Given the description of an element on the screen output the (x, y) to click on. 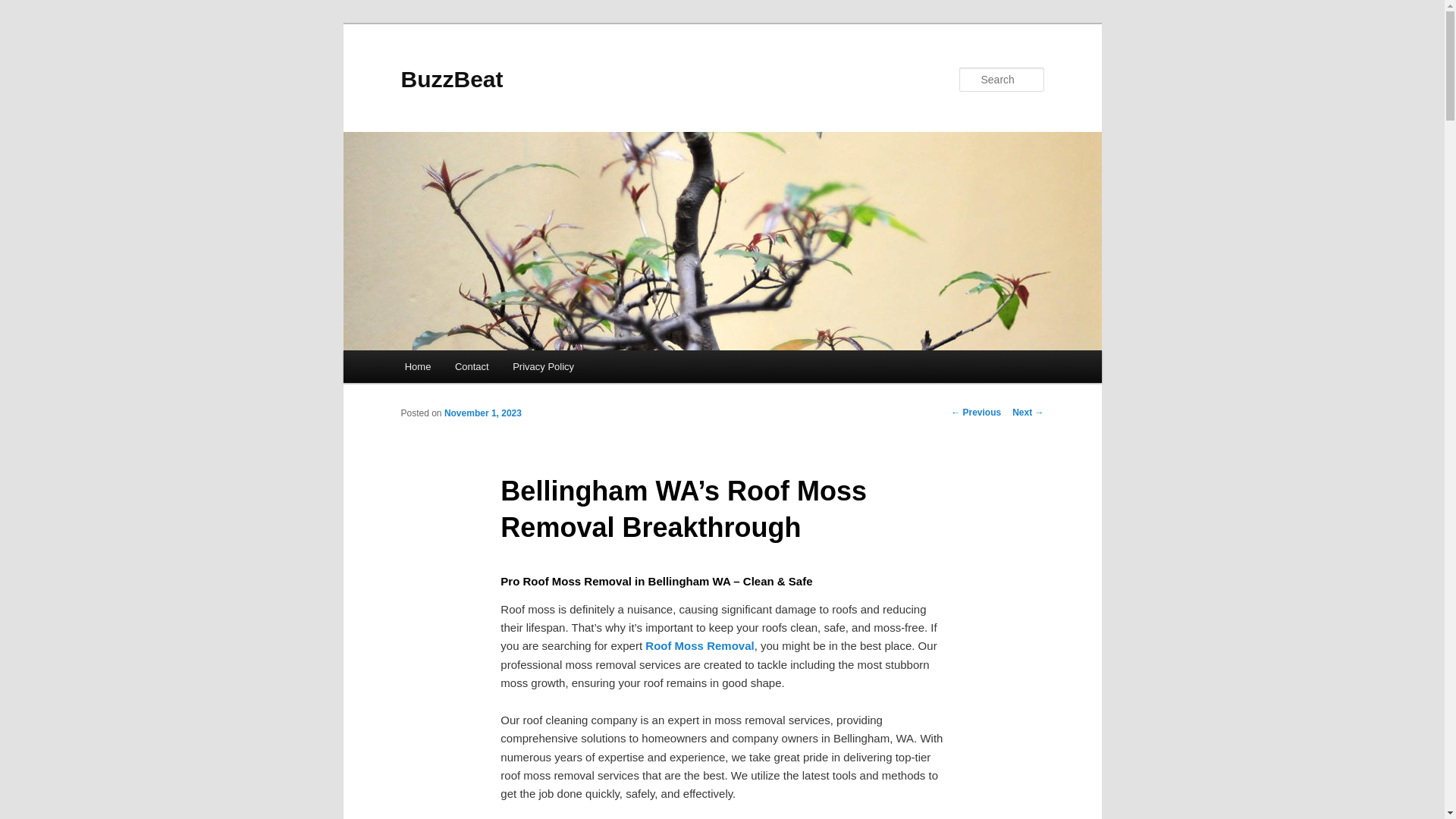
November 1, 2023 (482, 412)
Home (417, 366)
Search (24, 8)
Contact (471, 366)
Roof Moss Removal (699, 645)
Privacy Policy (542, 366)
BuzzBeat (451, 78)
4:44 pm (482, 412)
